Given the description of an element on the screen output the (x, y) to click on. 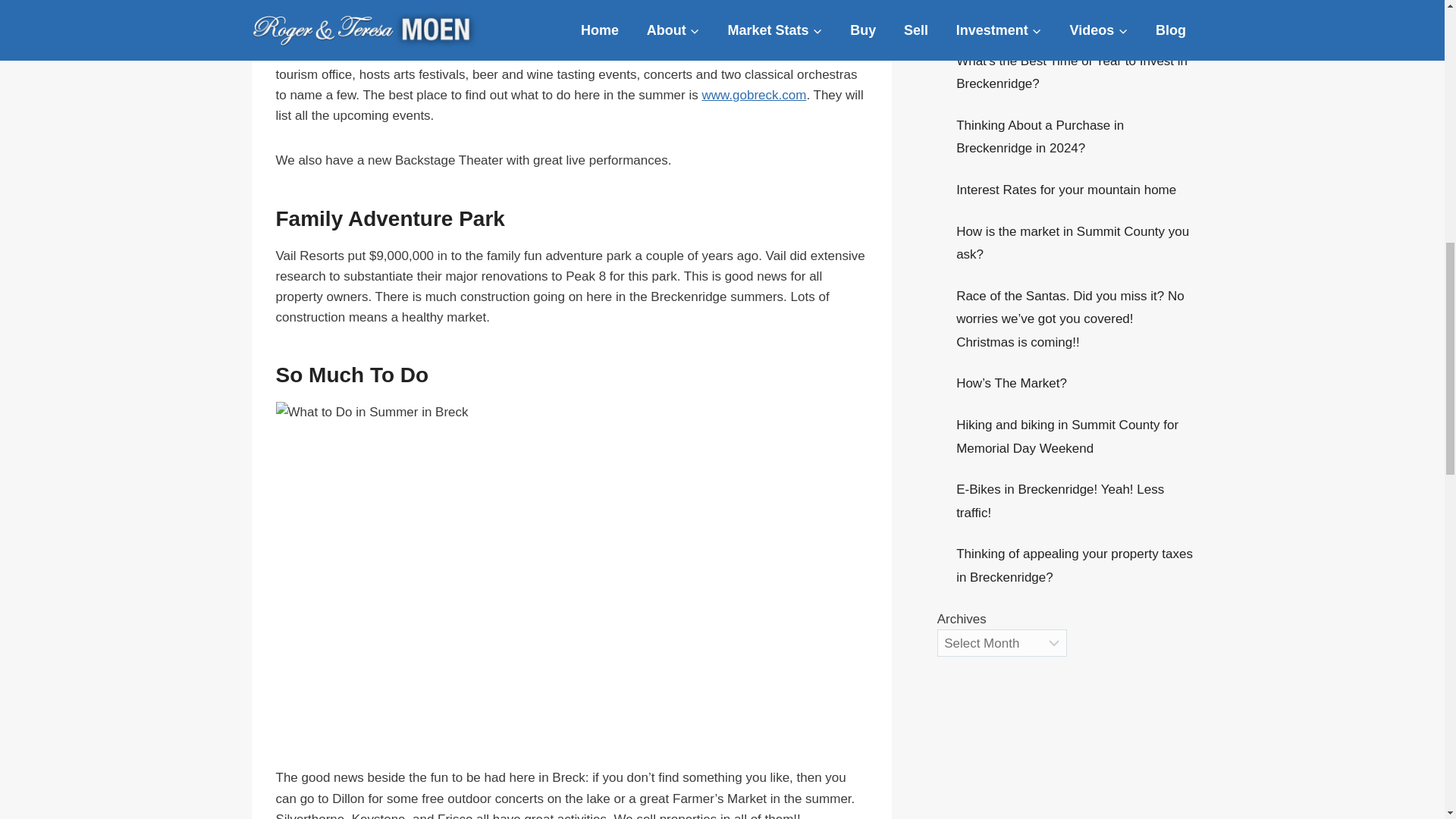
www.gobreck.com (753, 94)
GoBreck.com (748, 53)
